Given the description of an element on the screen output the (x, y) to click on. 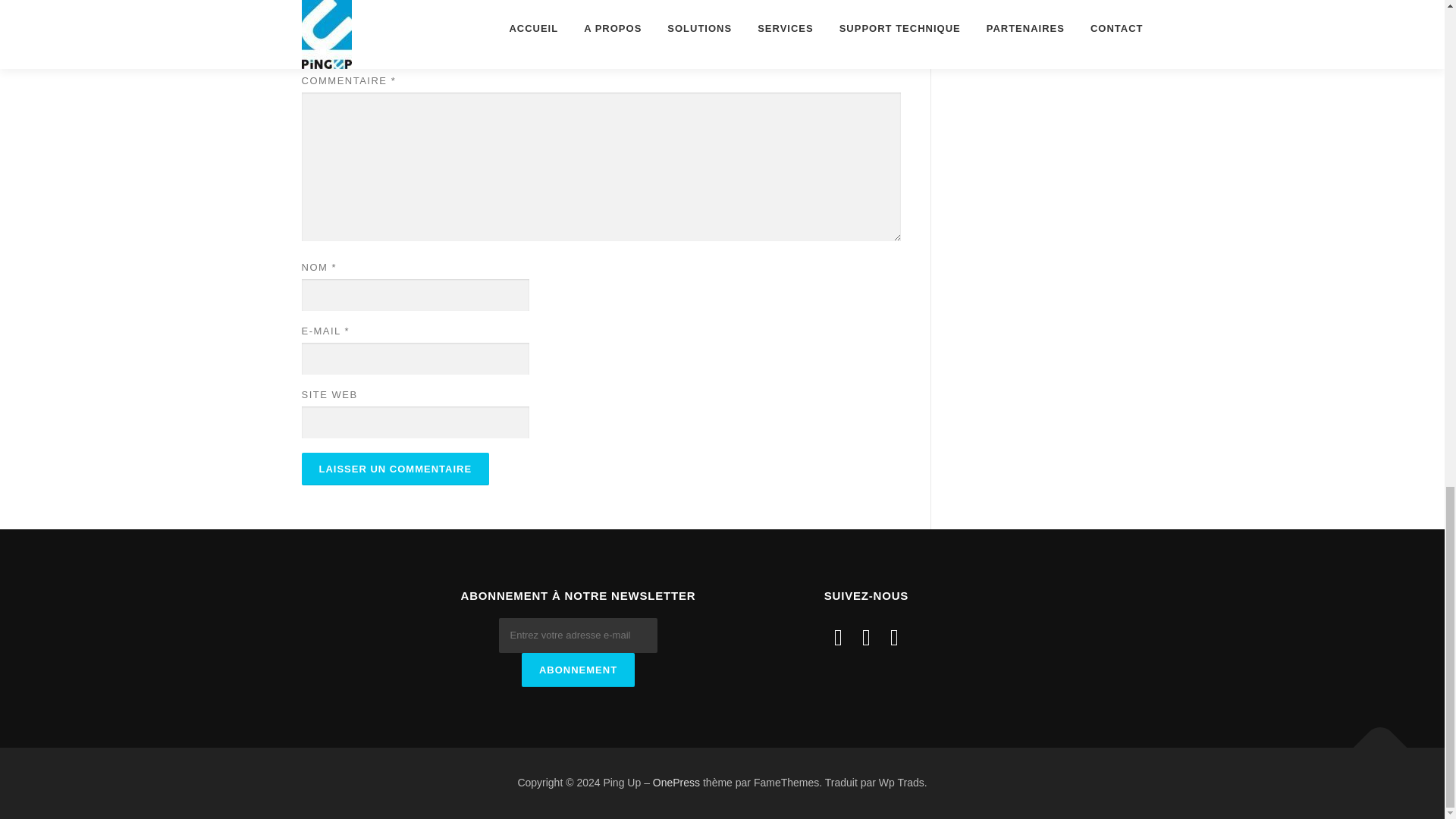
Laisser un commentaire (395, 468)
Retour en haut (1372, 739)
Abonnement (577, 669)
Laisser un commentaire (395, 468)
Abonnement (577, 669)
OnePress (676, 782)
